Given the description of an element on the screen output the (x, y) to click on. 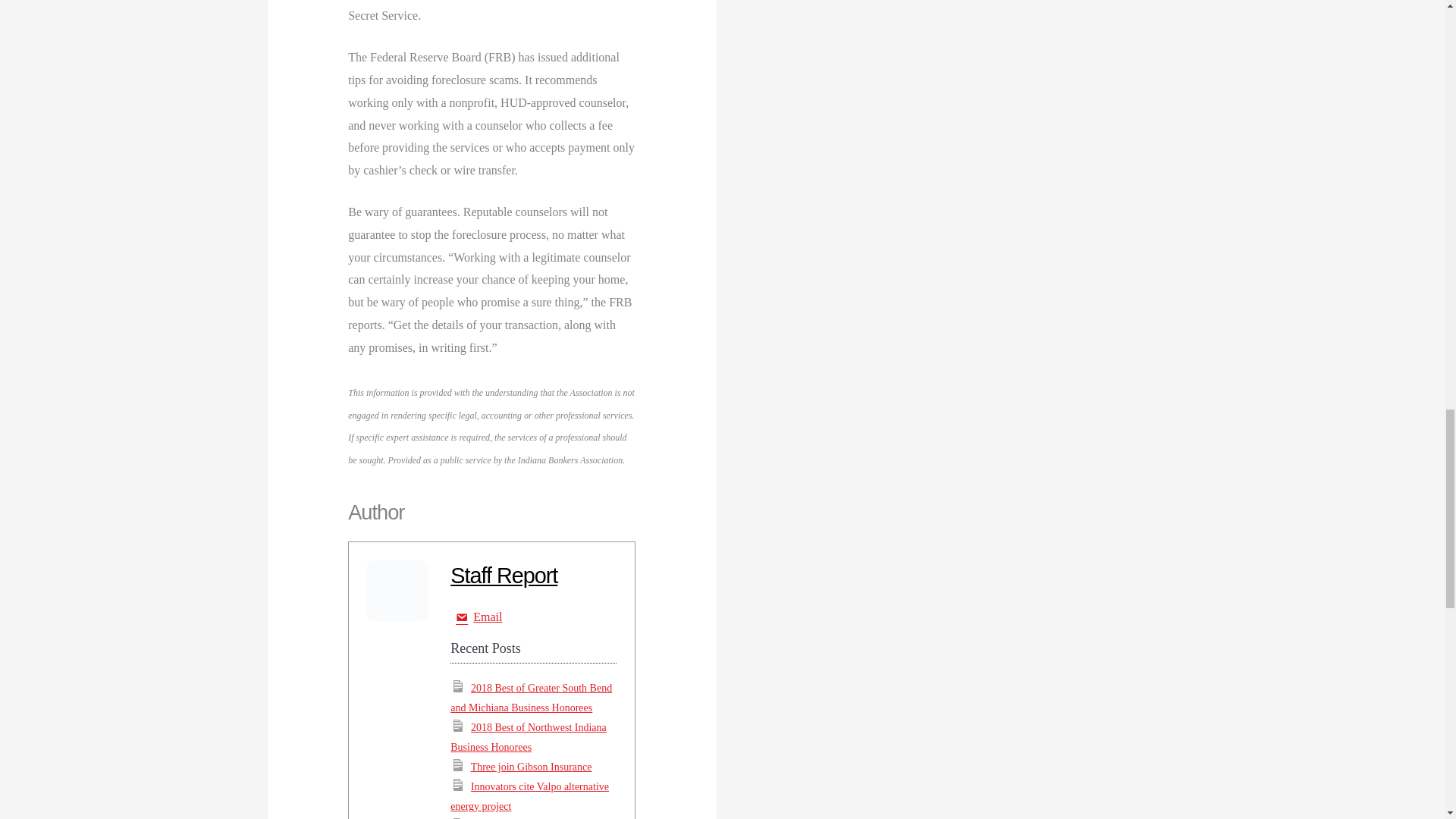
2018 Best of Northwest Indiana Business Honorees (528, 736)
Innovators cite Valpo alternative energy project (528, 796)
Three join Gibson Insurance (531, 767)
Staff Report (503, 575)
